Given the description of an element on the screen output the (x, y) to click on. 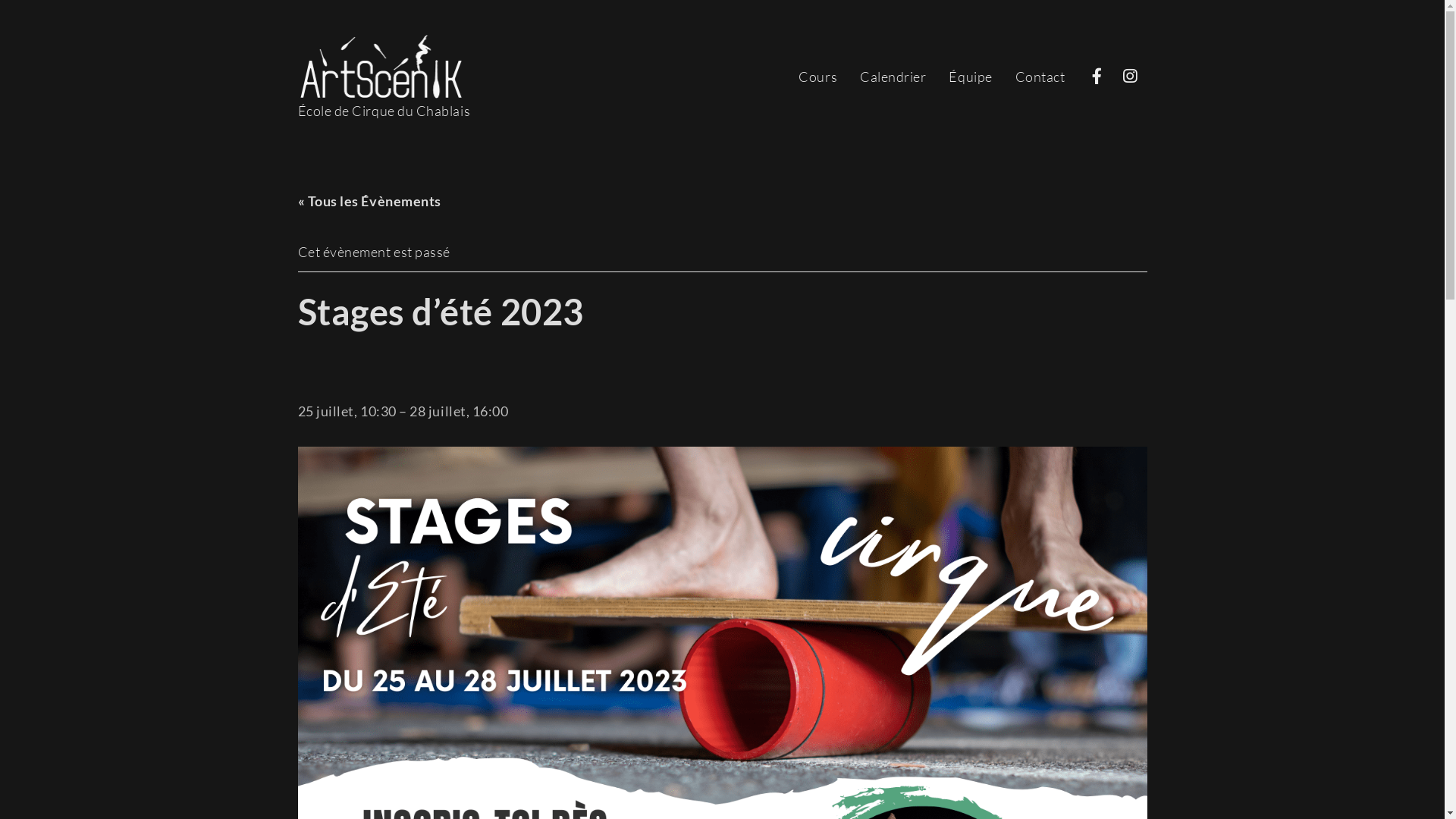
Cours Element type: text (817, 76)
Calendrier Element type: text (892, 76)
Contact Element type: text (1040, 76)
